Given the description of an element on the screen output the (x, y) to click on. 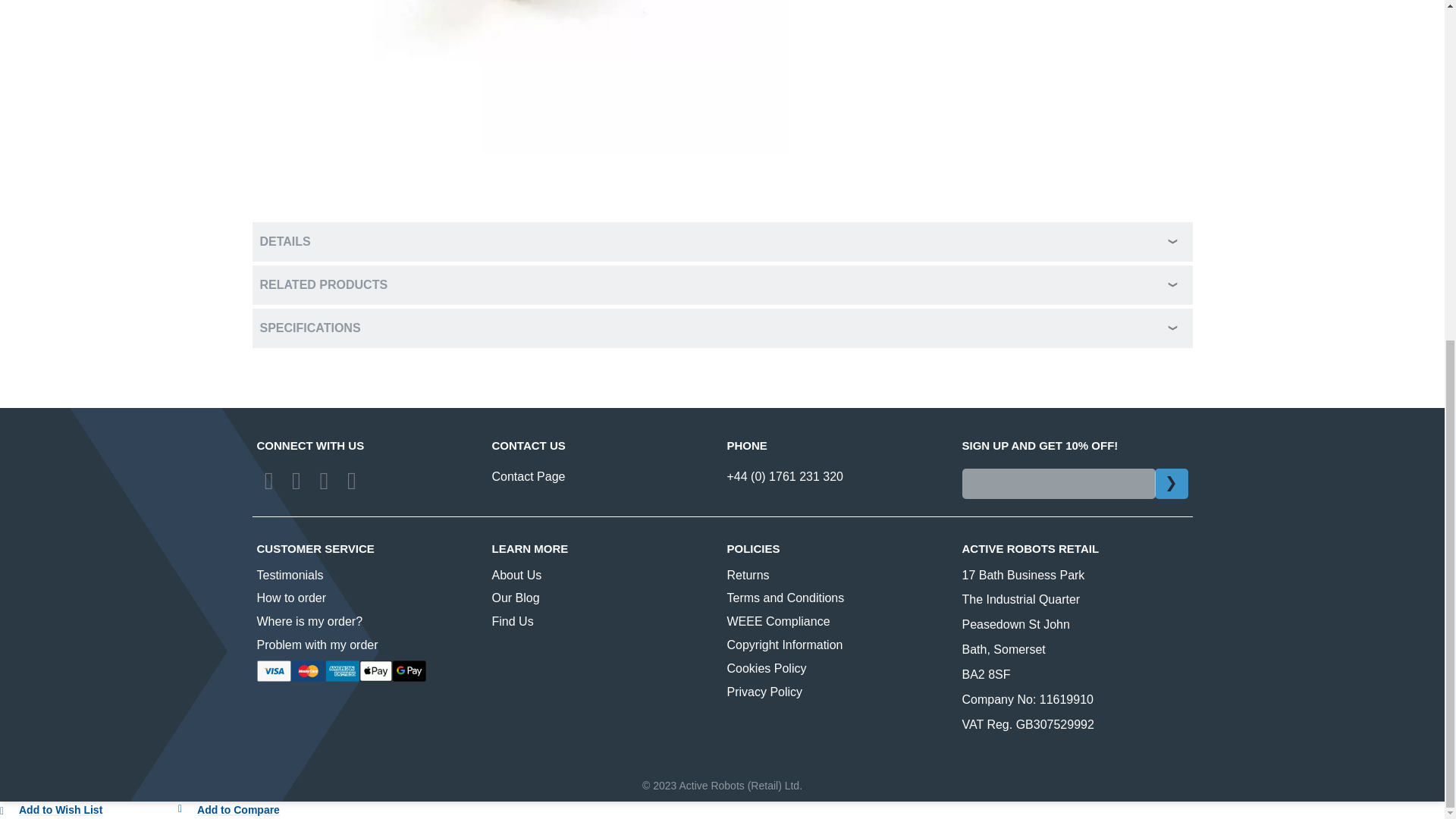
Visit us on Facebook (268, 480)
our community at LinkedIn (323, 480)
Look what we tweet (295, 480)
Check our instagram channel (351, 480)
